Given the description of an element on the screen output the (x, y) to click on. 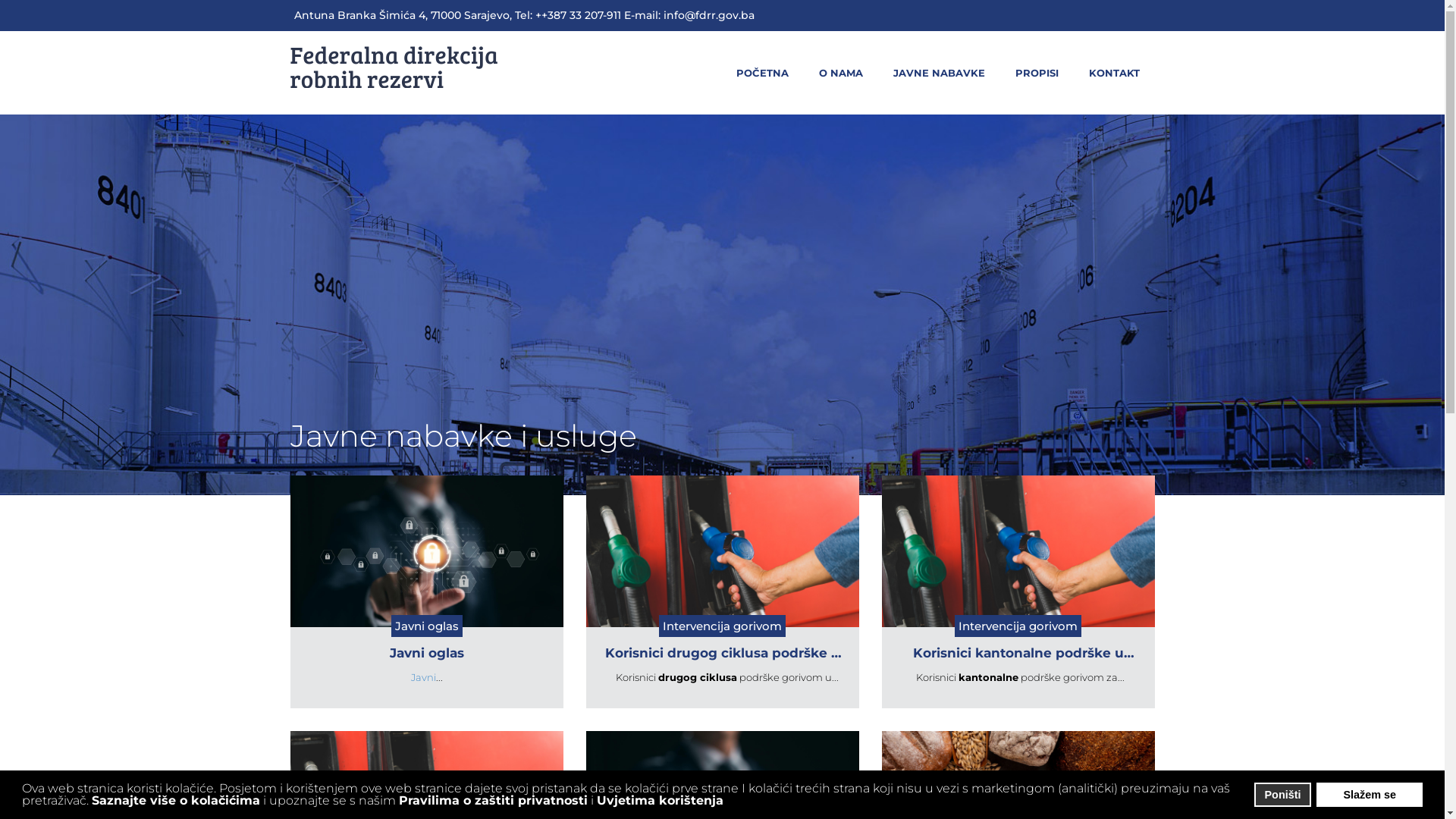
PROPISI Element type: text (1037, 72)
Javni Element type: text (423, 677)
KONTAKT Element type: text (1113, 72)
Javni oglas Element type: text (425, 653)
O NAMA Element type: text (839, 72)
JAVNE NABAVKE Element type: text (938, 72)
